Given the description of an element on the screen output the (x, y) to click on. 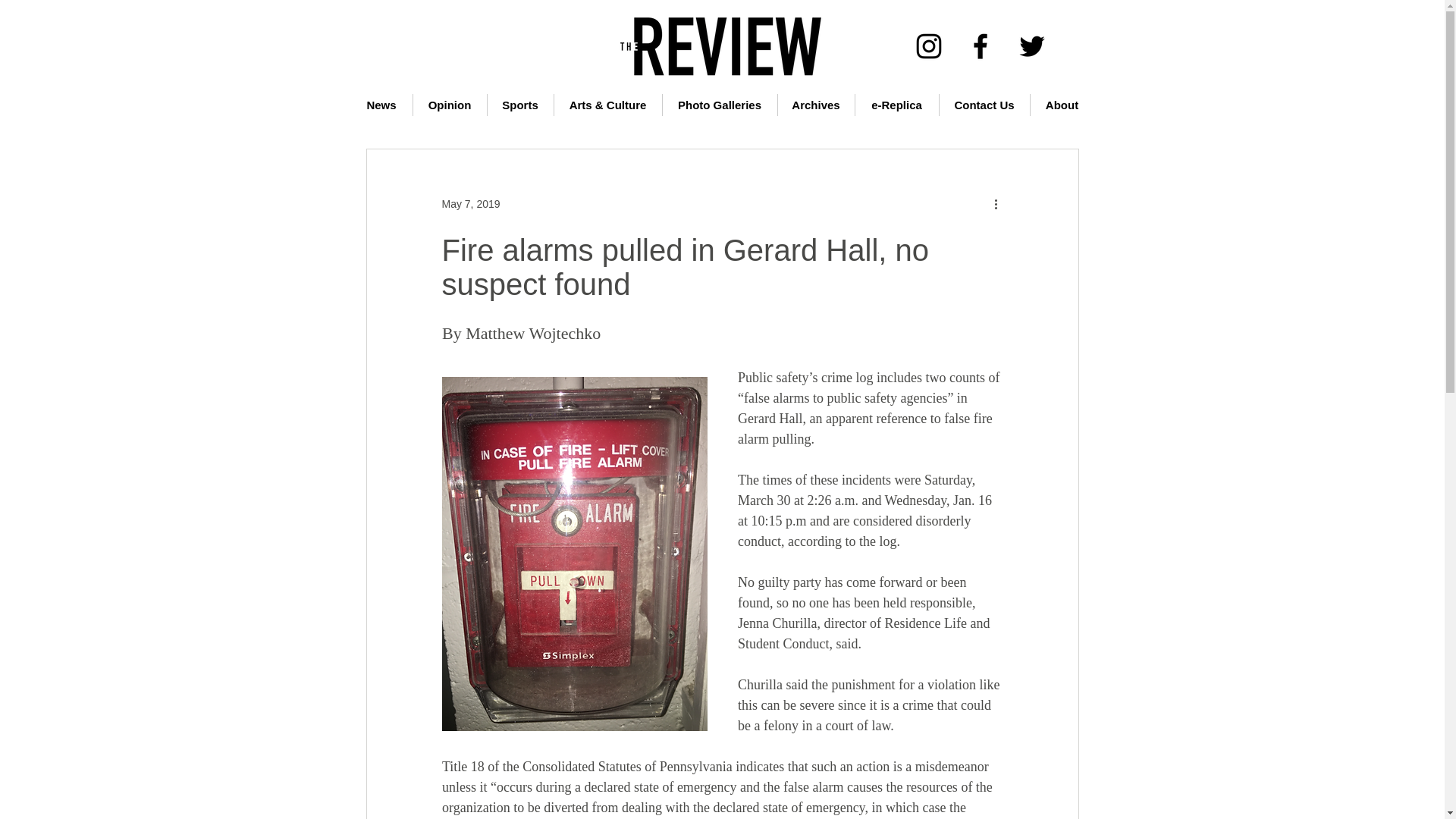
Photo Galleries (719, 105)
May 7, 2019 (470, 203)
Sports (519, 105)
About (1061, 105)
News (381, 105)
Opinion (449, 105)
e-Replica (897, 105)
Contact Us (984, 105)
Archives (815, 105)
